Given the description of an element on the screen output the (x, y) to click on. 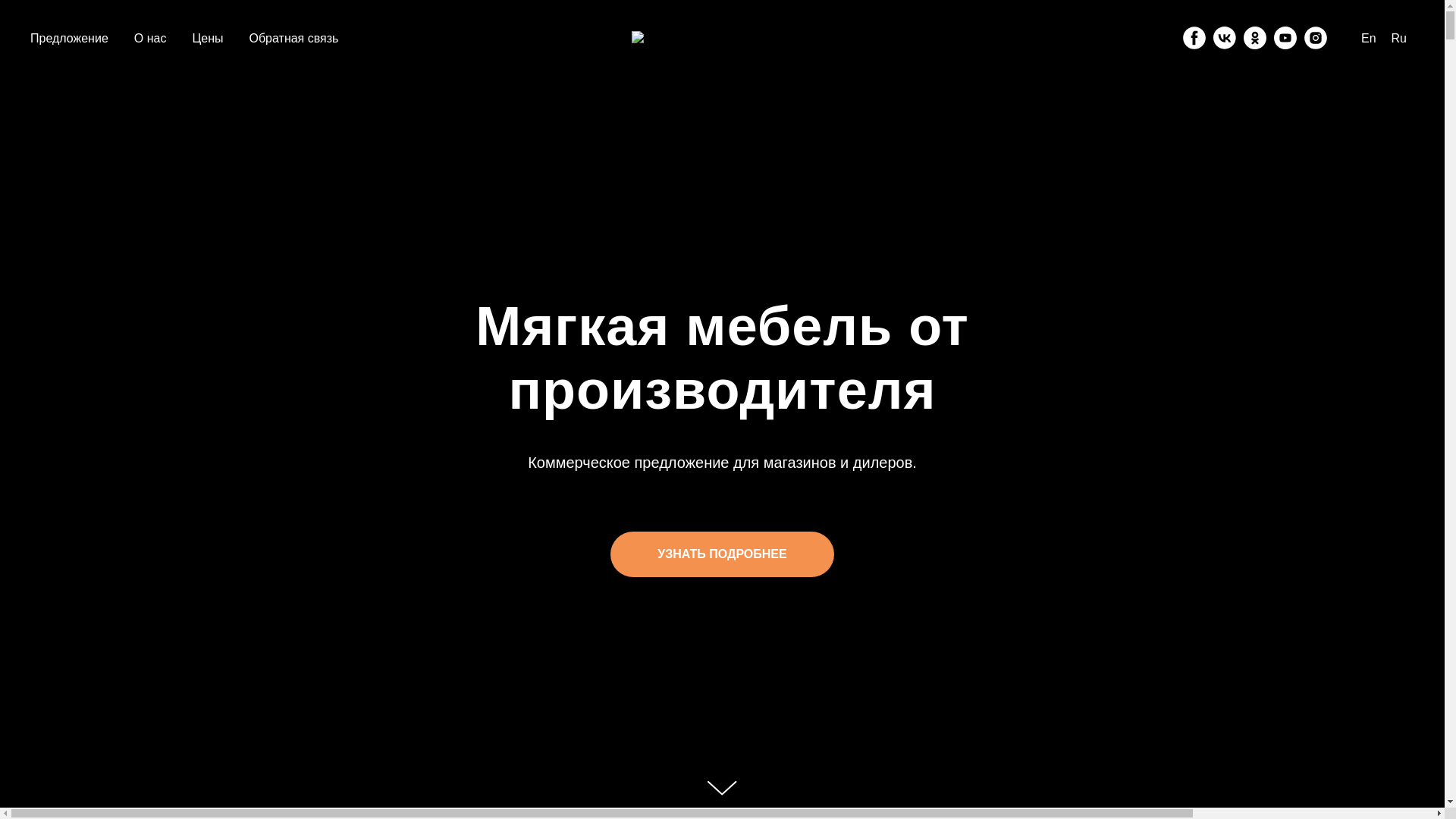
En Element type: text (1368, 37)
Odnoklassniki Element type: text (1254, 37)
VK Element type: text (1224, 37)
Youtube Element type: text (1285, 37)
Ru Element type: text (1398, 37)
Instagram Element type: text (1315, 37)
Facebook Element type: text (1194, 37)
